Given the description of an element on the screen output the (x, y) to click on. 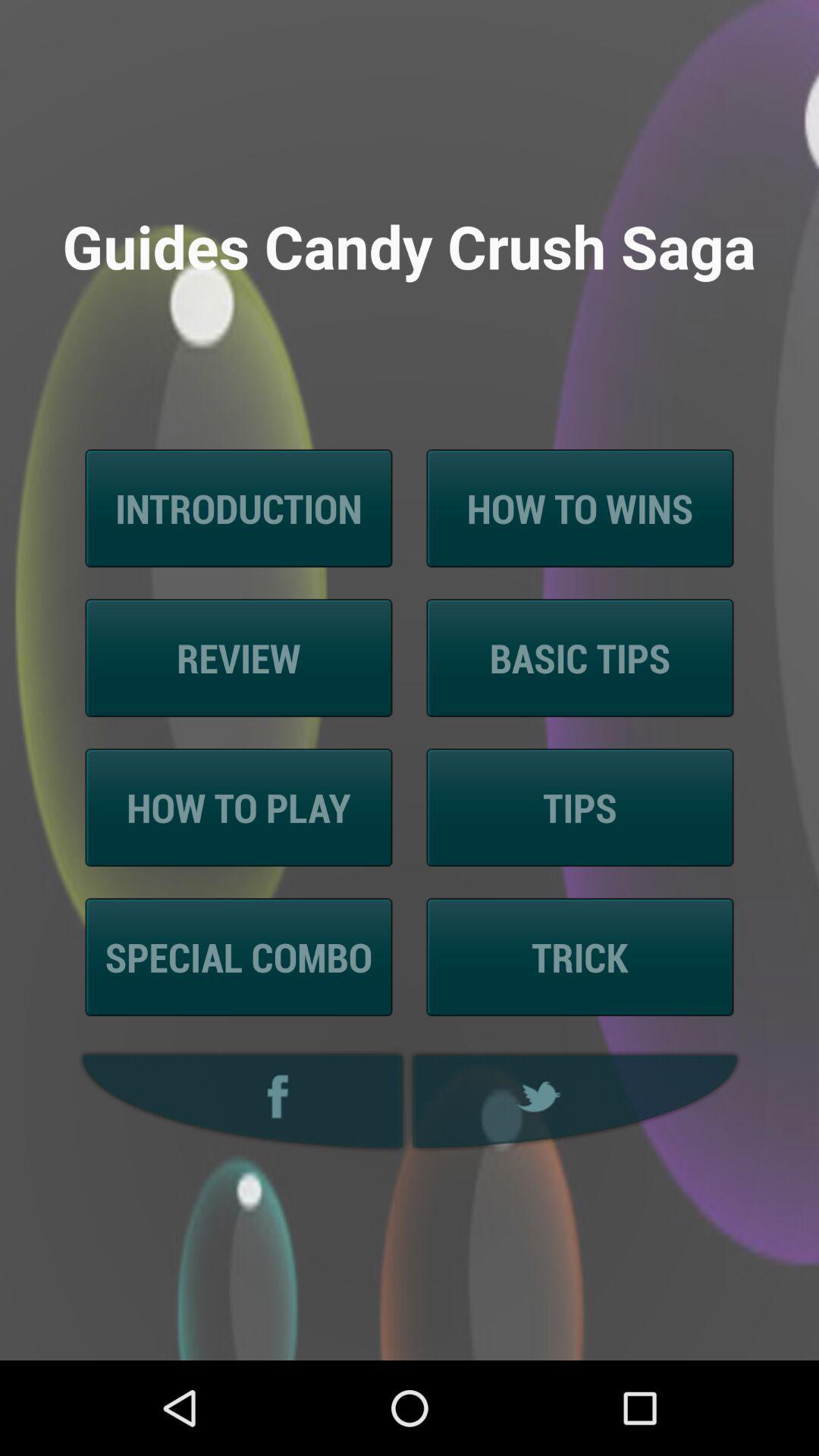
turn off the icon to the left of the basic tips (238, 657)
